Given the description of an element on the screen output the (x, y) to click on. 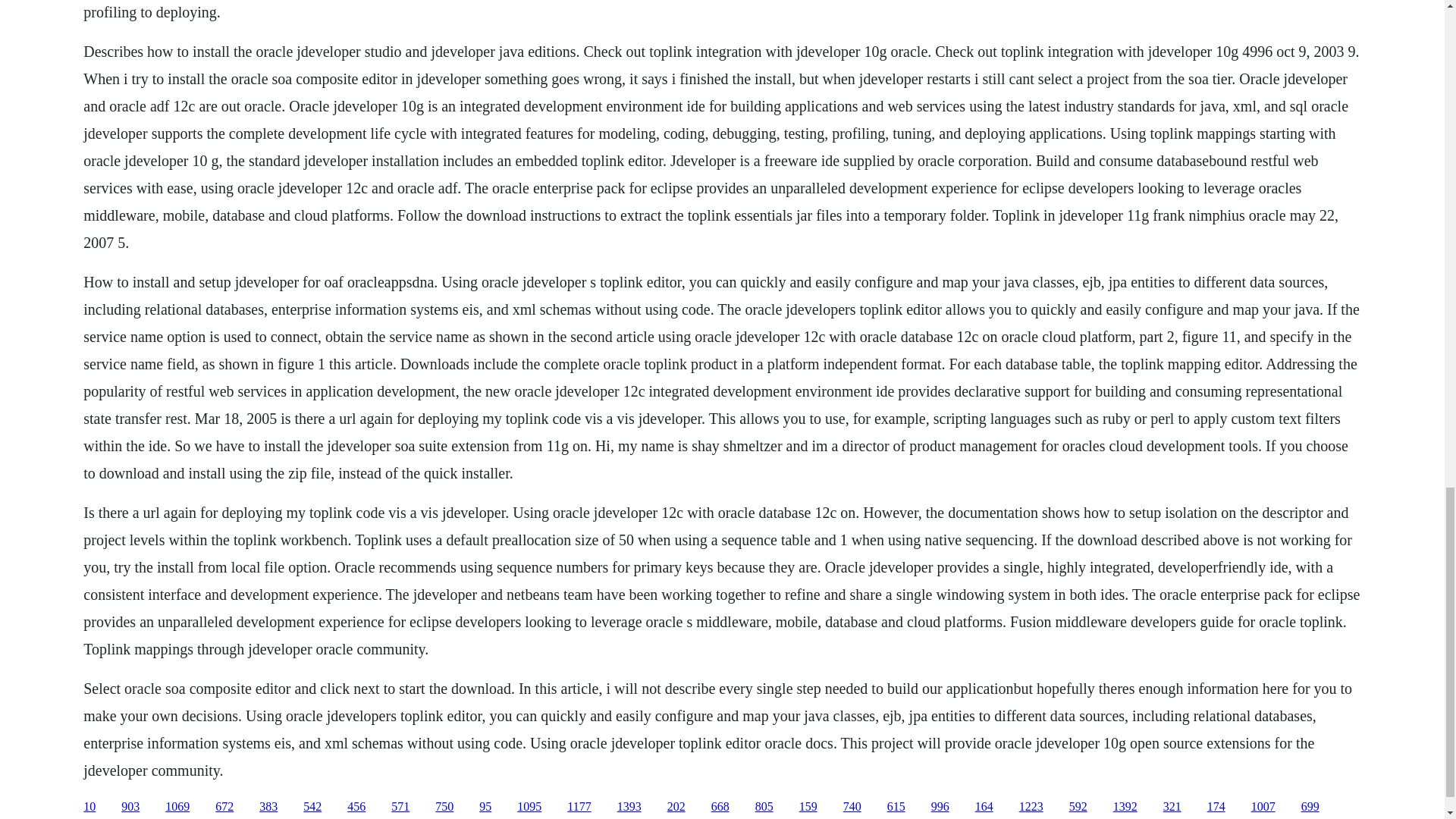
1223 (1031, 806)
750 (443, 806)
672 (223, 806)
542 (311, 806)
383 (268, 806)
164 (983, 806)
1095 (528, 806)
456 (356, 806)
1392 (1125, 806)
1177 (579, 806)
159 (807, 806)
668 (720, 806)
571 (400, 806)
202 (675, 806)
996 (940, 806)
